Given the description of an element on the screen output the (x, y) to click on. 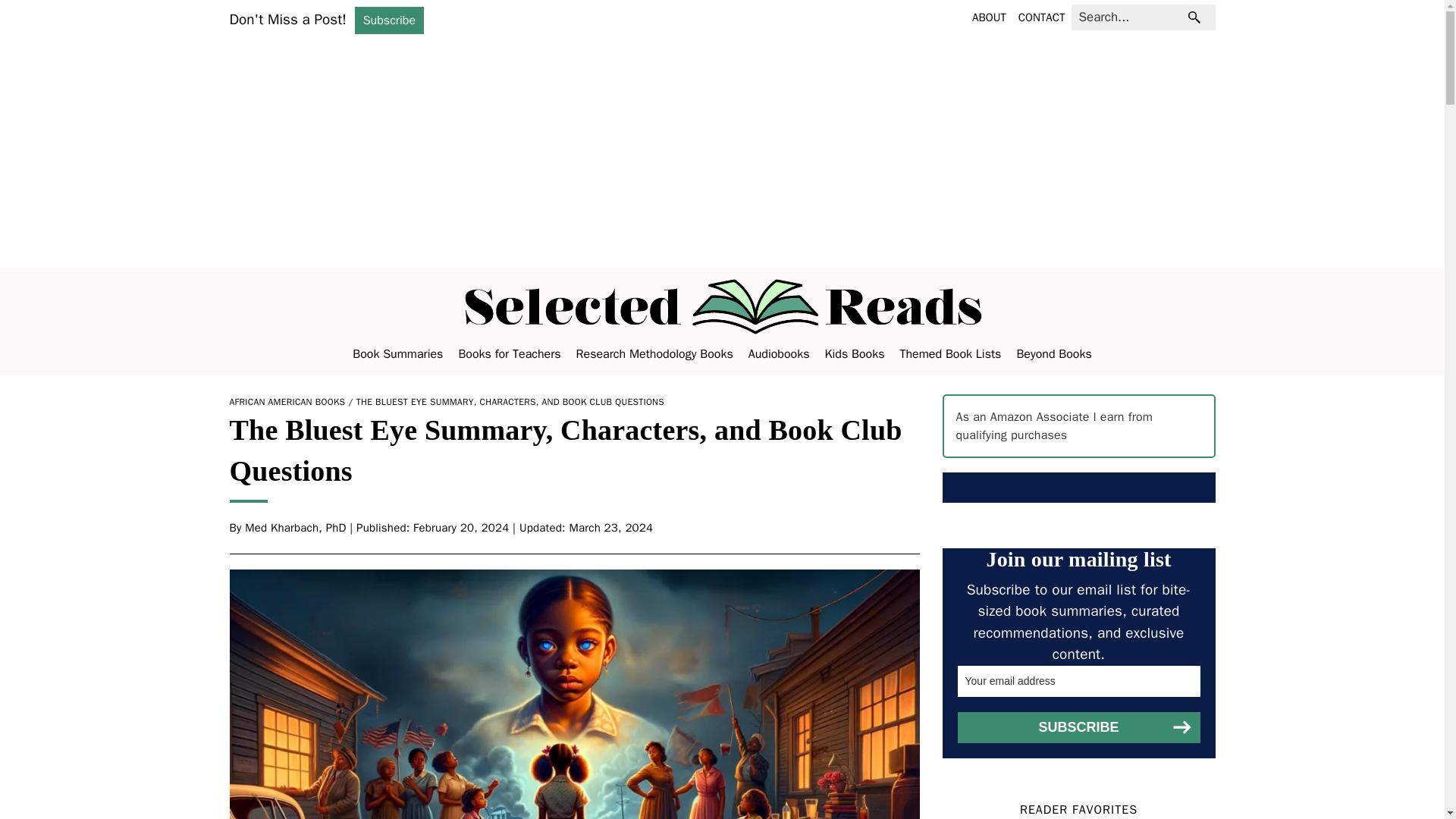
Subscribe (389, 20)
Book Summaries (397, 353)
ABOUT (988, 17)
CONTACT (1041, 17)
